Given the description of an element on the screen output the (x, y) to click on. 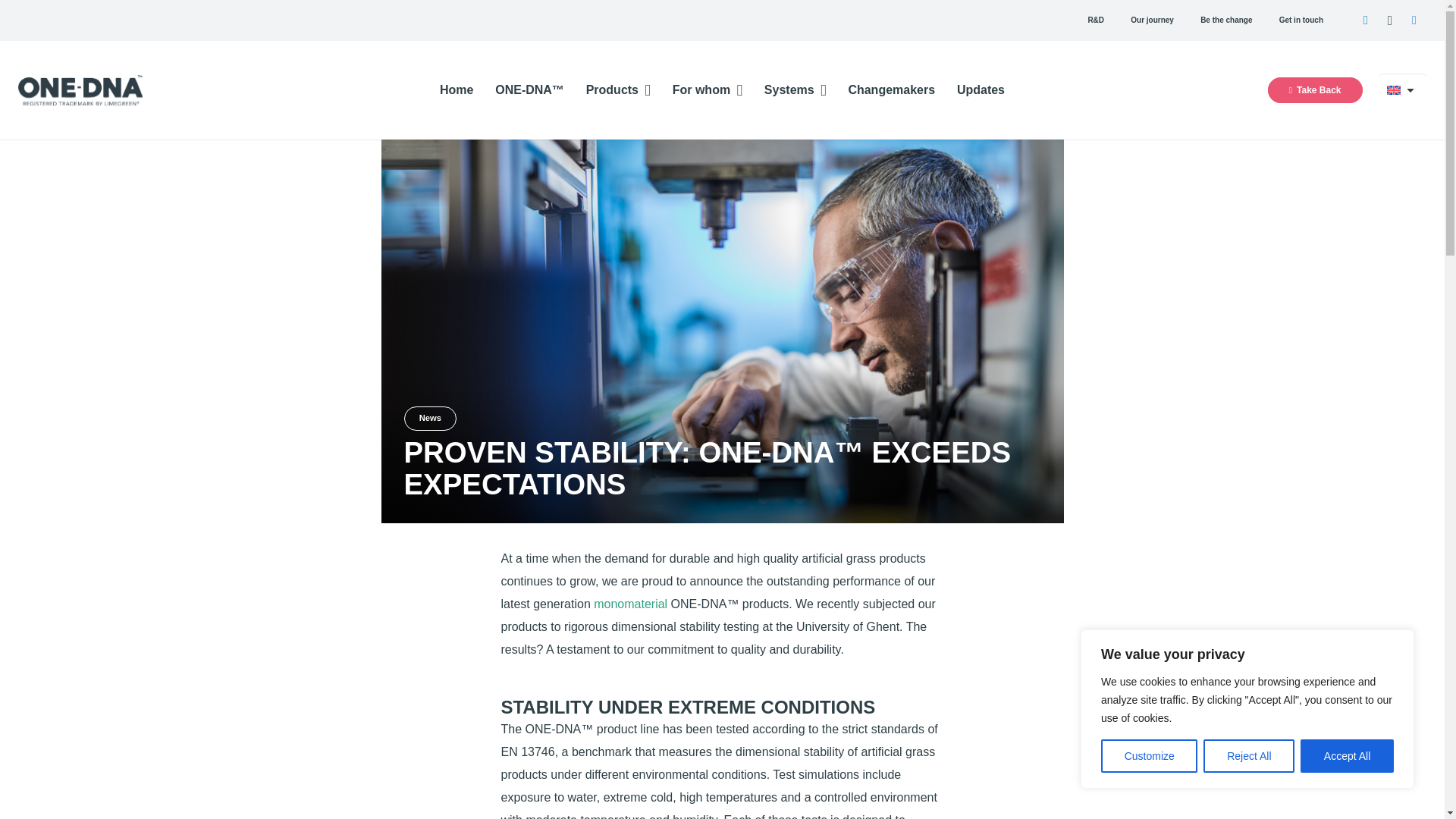
Our journey (1153, 20)
Accept All (1346, 756)
Facebook (1414, 20)
Get in touch (1300, 20)
Instagram (1389, 20)
For whom (706, 89)
LinkedIn (1365, 20)
Customize (1148, 756)
Be the change (1227, 20)
Reject All (1249, 756)
